Given the description of an element on the screen output the (x, y) to click on. 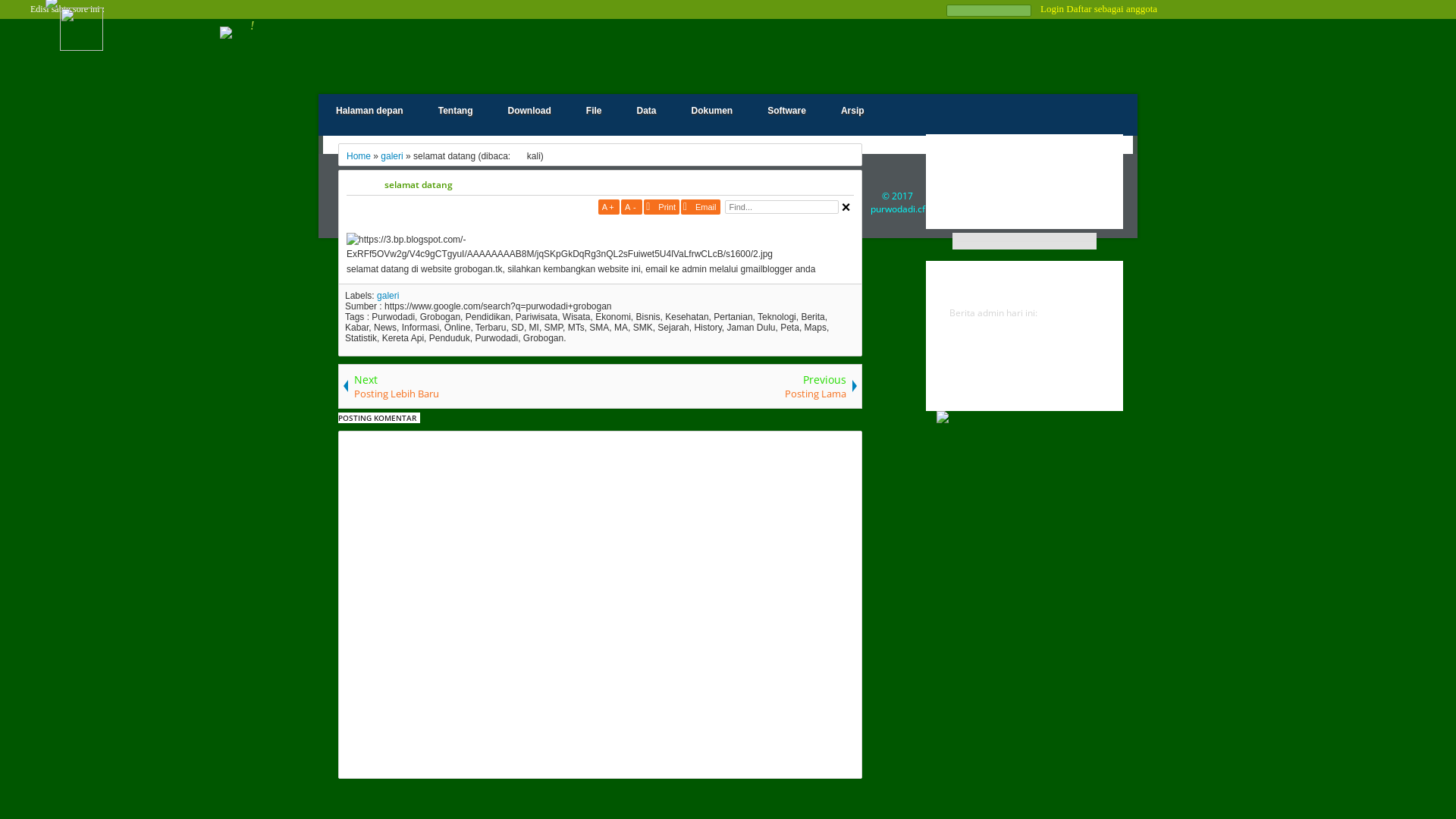
Next
Posting Lebih Baru Element type: text (468, 385)
Arsip Element type: text (852, 111)
Halaman lklan Element type: text (1024, 387)
Tentang Element type: text (455, 111)
Data Element type: text (646, 111)
Print Element type: text (661, 206)
Home Element type: text (358, 155)
Halaman Admin Element type: text (1024, 285)
galeri Element type: text (391, 155)
Download Element type: text (528, 111)
Previous
Posting Lama Element type: text (729, 385)
File Element type: text (594, 111)
A- Element type: text (631, 206)
Software Element type: text (786, 111)
A+ Element type: text (608, 206)
Email Element type: text (700, 206)
Halaman depan Element type: text (369, 111)
Dokumen Element type: text (712, 111)
galeri Element type: text (387, 295)
Favorit Element type: text (1024, 205)
selamat datang Element type: text (618, 184)
